Given the description of an element on the screen output the (x, y) to click on. 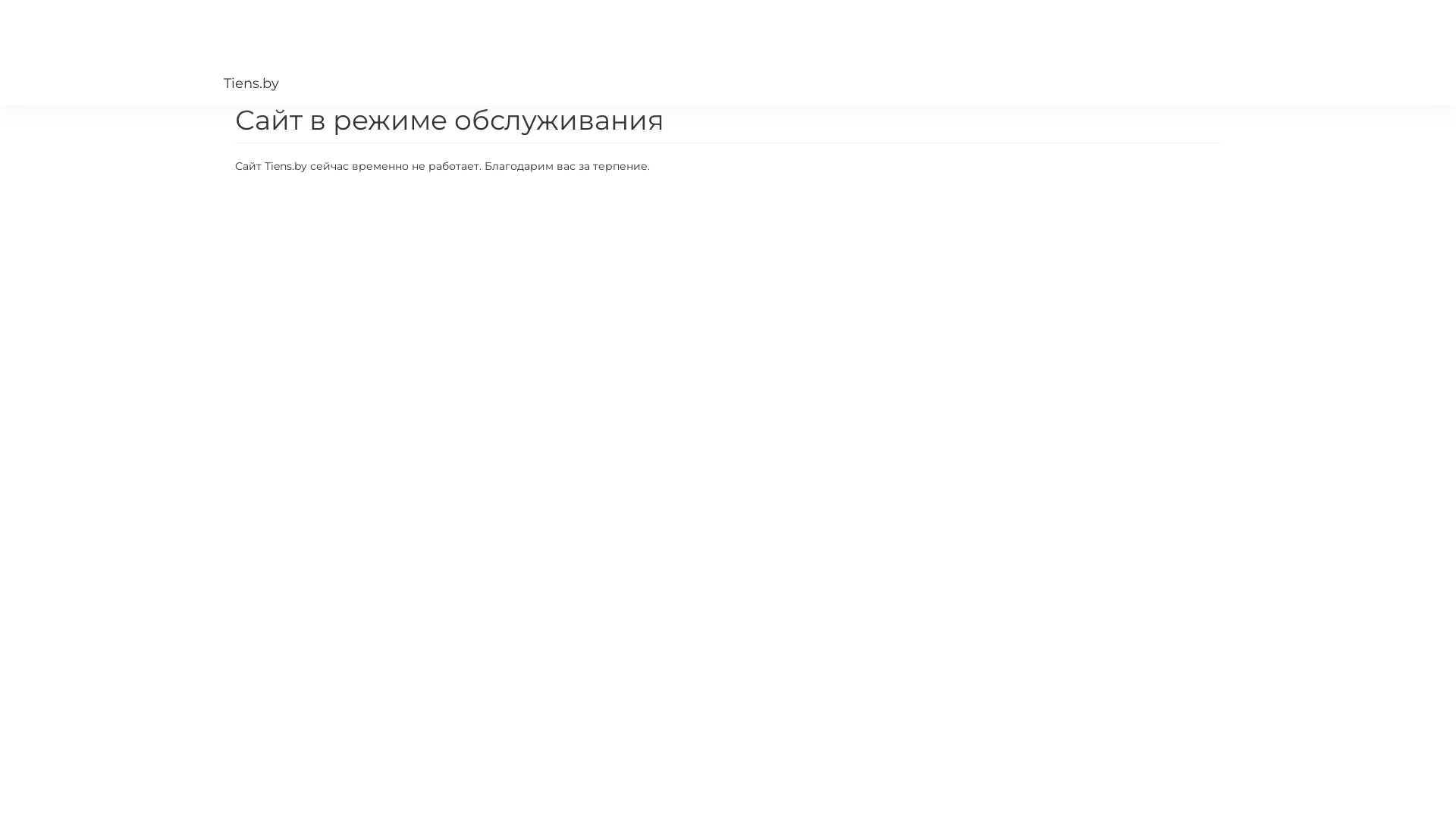
Tiens.by Element type: text (341, 52)
